Given the description of an element on the screen output the (x, y) to click on. 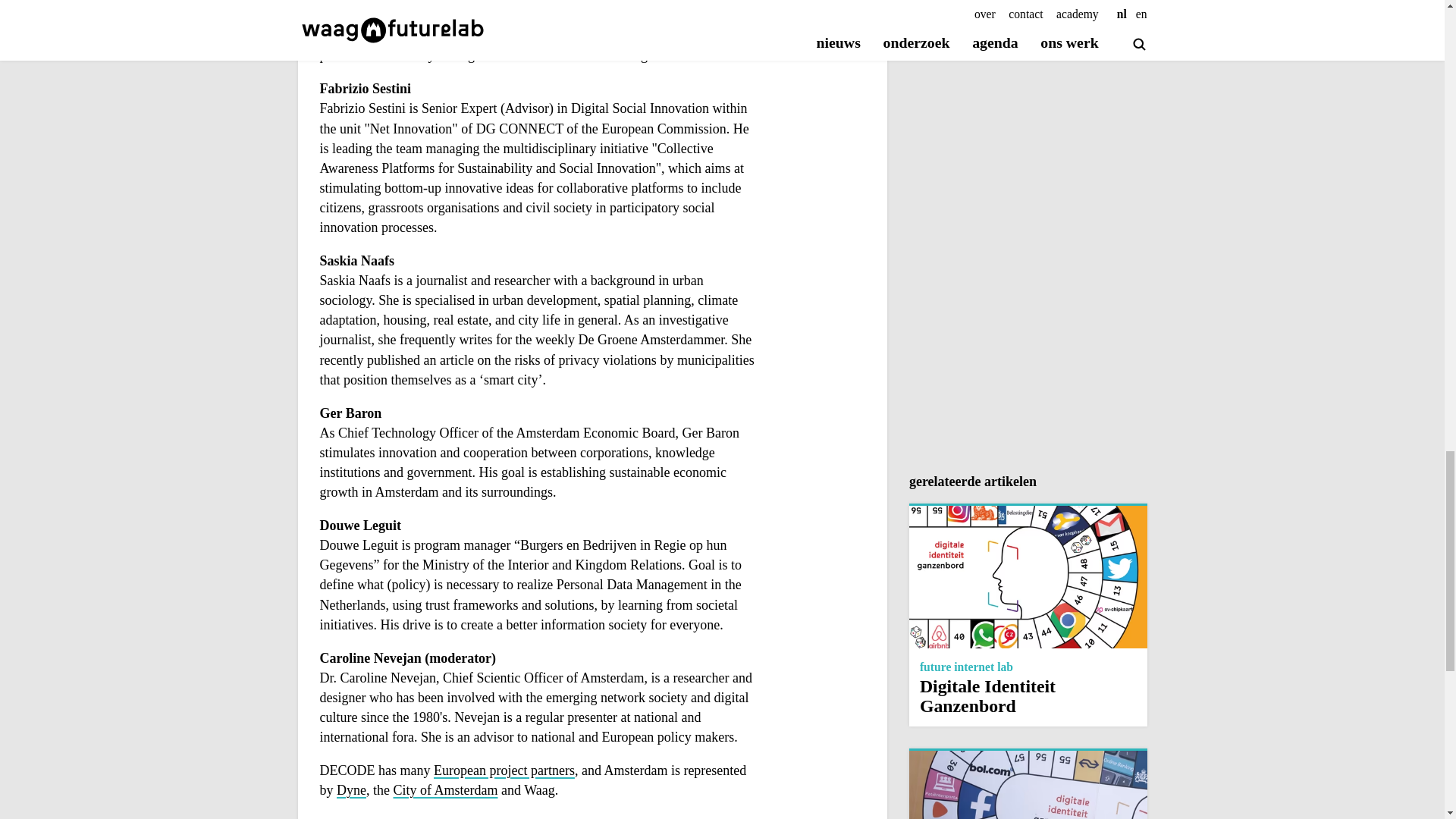
European project partners (504, 770)
City of Amsterdam (1027, 614)
Dyne (445, 790)
